Given the description of an element on the screen output the (x, y) to click on. 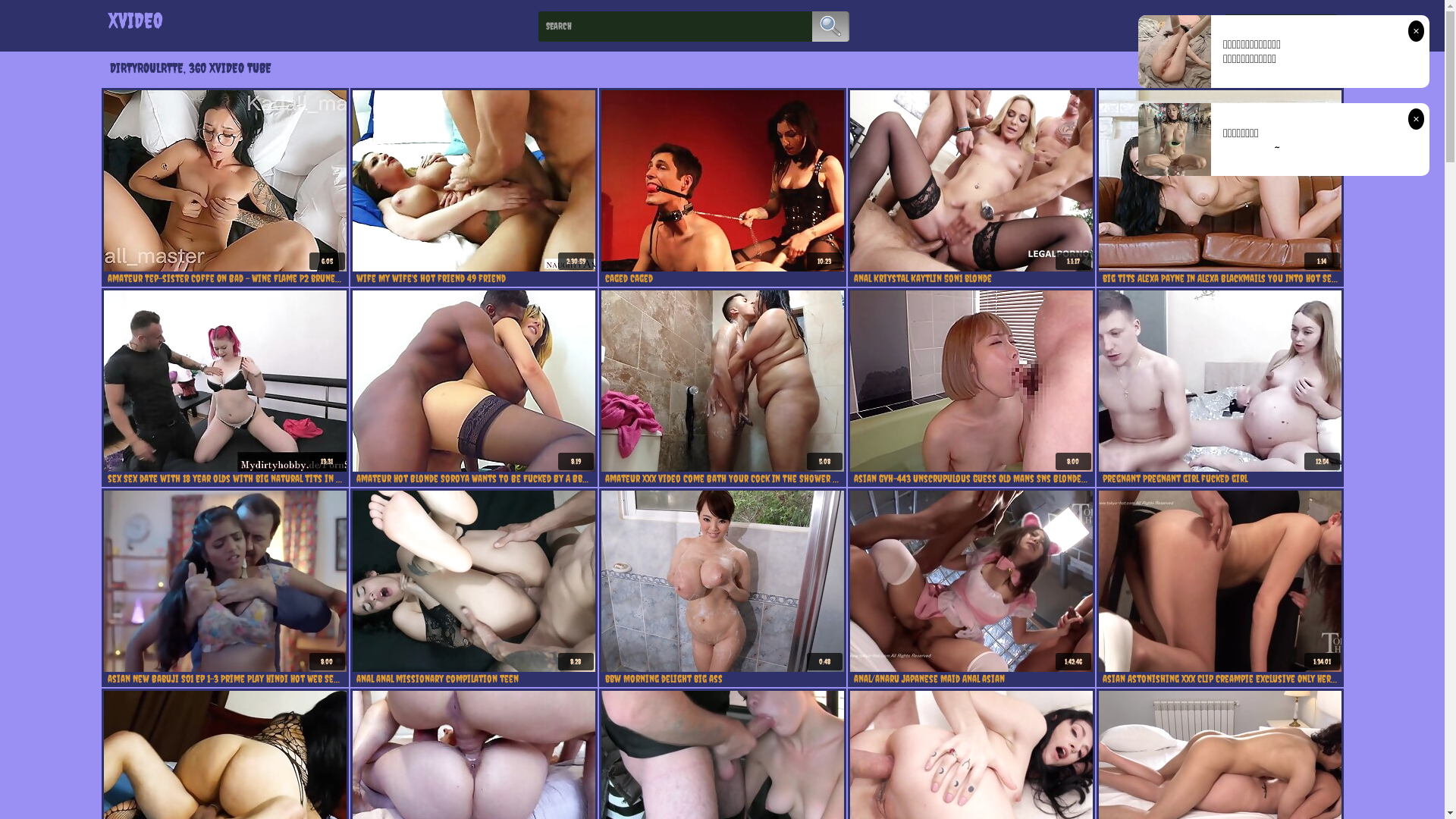
8:00 Element type: text (224, 580)
0:48 Element type: text (721, 580)
8:19 Element type: text (472, 380)
1:14 Element type: text (1219, 180)
1:34:01 Element type: text (1219, 580)
2:30:59 Element type: text (472, 180)
pregnant Pregnant girl fucked girl Element type: text (1219, 478)
1:42:46 Element type: text (970, 580)
wife My wife's hot friend 49 friend Element type: text (473, 278)
bbw Morning delight big ass Element type: text (722, 678)
1:1:17 Element type: text (970, 180)
amateur Tep-sister Coffe On Bad - Wine Flame P2 brunette Element type: text (224, 278)
8:00 Element type: text (970, 380)
anal/anaru Japanese Maid Anal asian Element type: text (970, 678)
8:28 Element type: text (472, 580)
anal Kriystal Kaytlin 5on1 blonde Element type: text (970, 278)
XVIDEO Element type: text (134, 19)
12:54 Element type: text (1219, 380)
caged Caged Element type: text (722, 278)
10:23 Element type: text (721, 180)
13:31 Element type: text (224, 380)
5:08 Element type: text (721, 380)
6:05 Element type: text (224, 180)
anal anal missionary compilation teen Element type: text (473, 678)
